Given the description of an element on the screen output the (x, y) to click on. 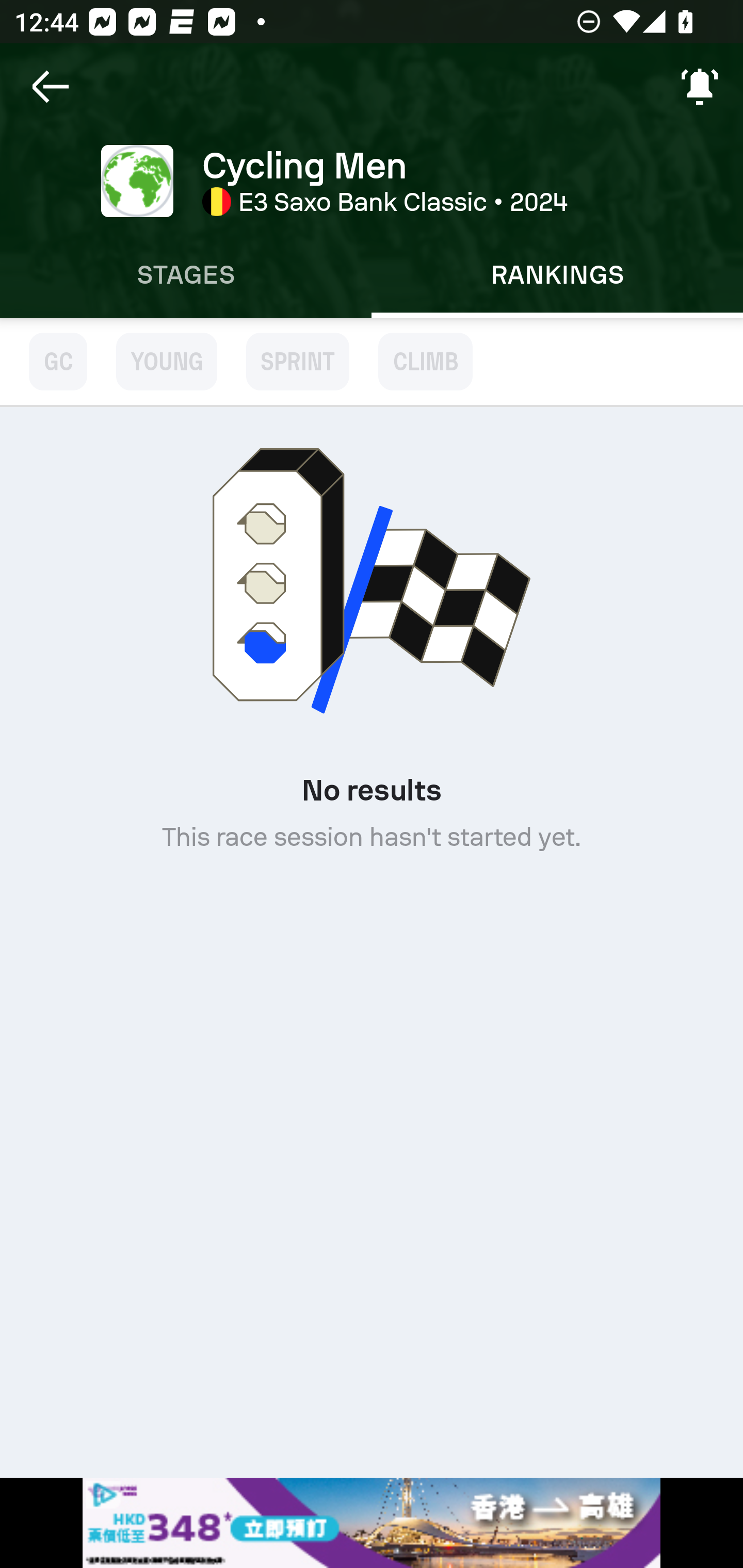
Navigate up (50, 86)
Stages STAGES (185, 275)
2ph9hx2a_320x50 (371, 1522)
